Given the description of an element on the screen output the (x, y) to click on. 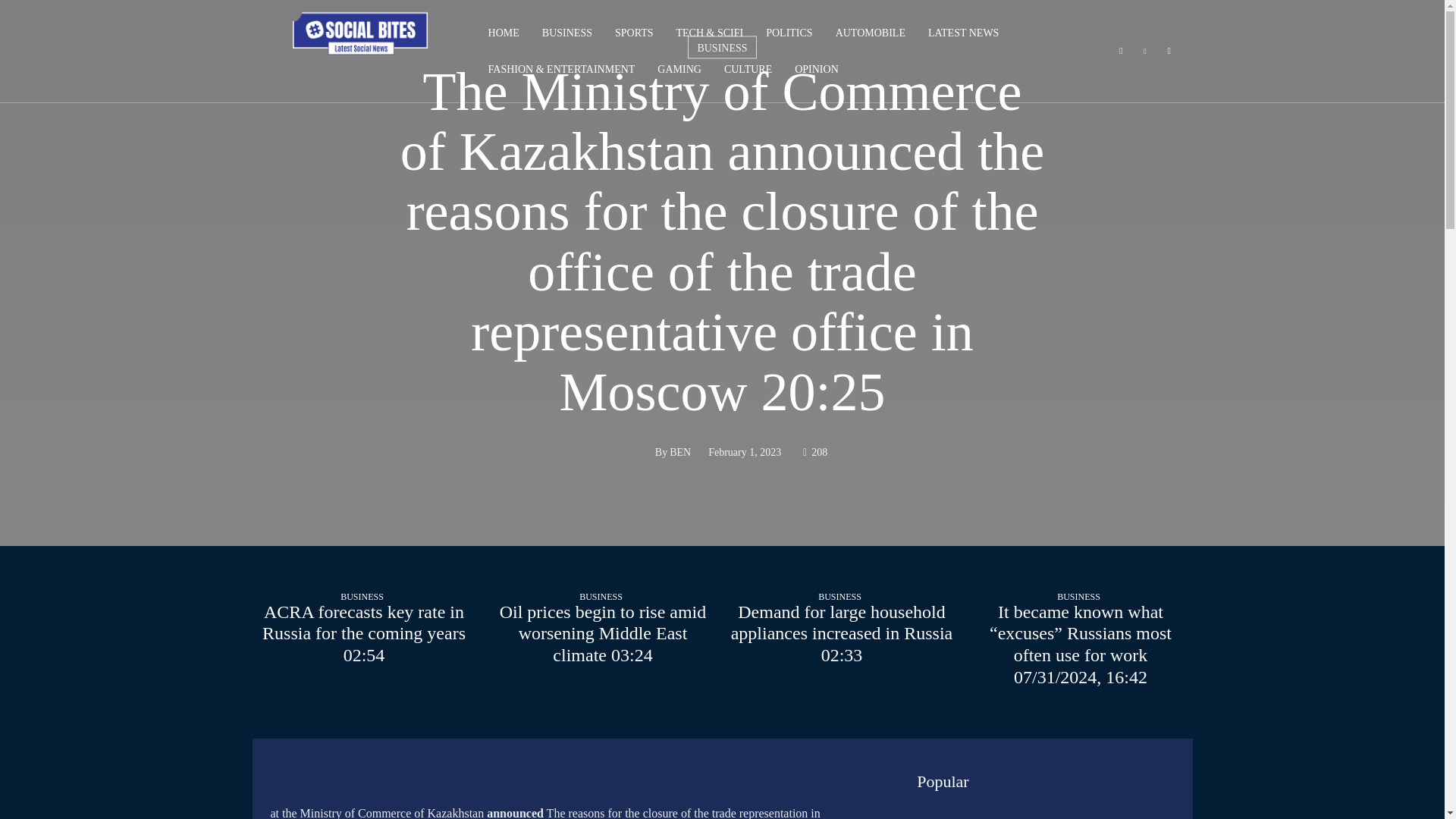
CULTURE (748, 69)
OPINION (816, 69)
POLITICS (788, 33)
Ben (636, 453)
HOME (503, 33)
Pinterest (1145, 51)
ACRA forecasts key rate in Russia for the coming years 02:54 (363, 633)
AUTOMOBILE (869, 33)
Tumblr (1168, 51)
LATEST NEWS (963, 33)
BUSINESS (566, 33)
Facebook (1121, 51)
